Given the description of an element on the screen output the (x, y) to click on. 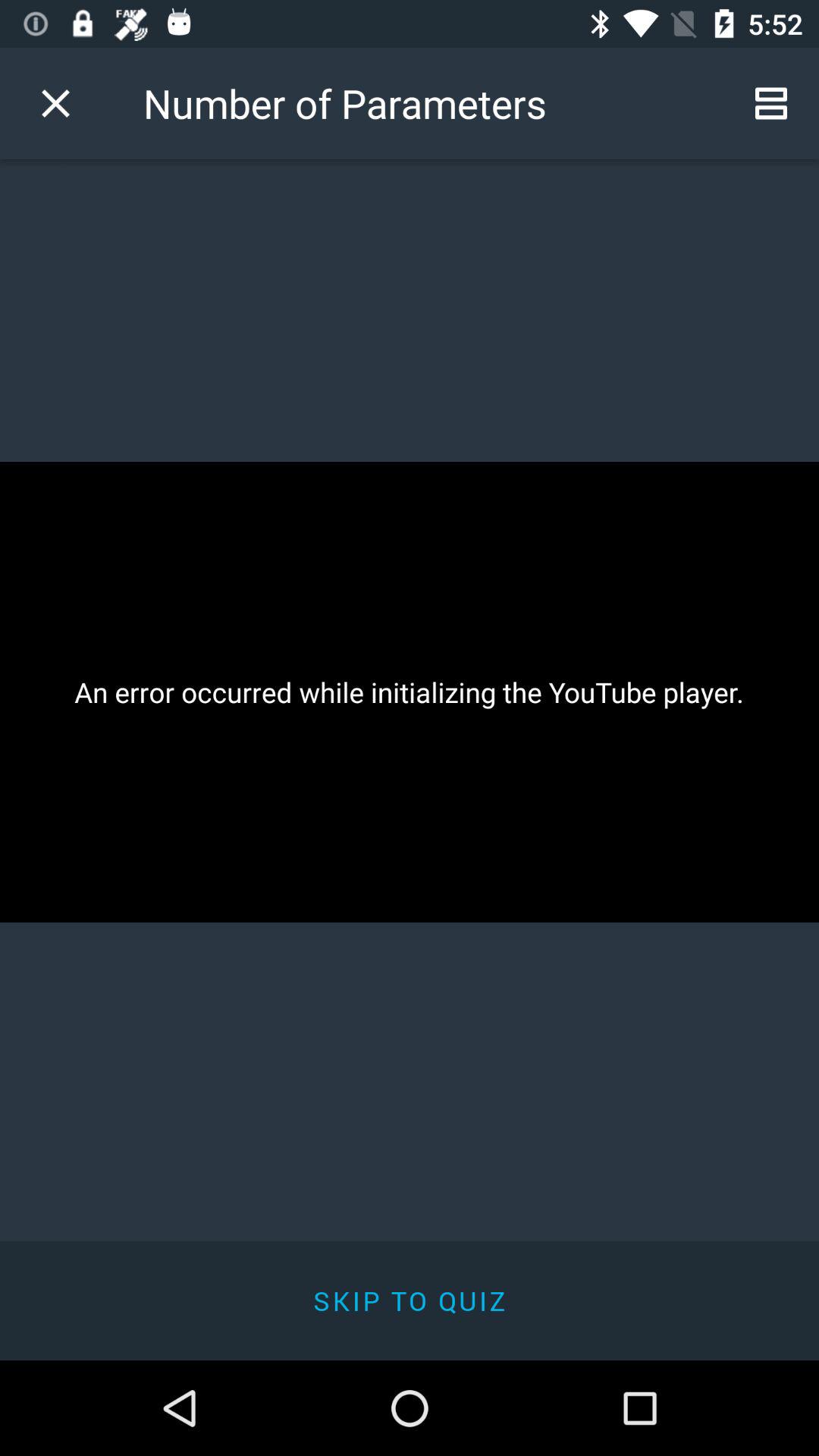
choose icon below the an error occurred item (409, 1300)
